Given the description of an element on the screen output the (x, y) to click on. 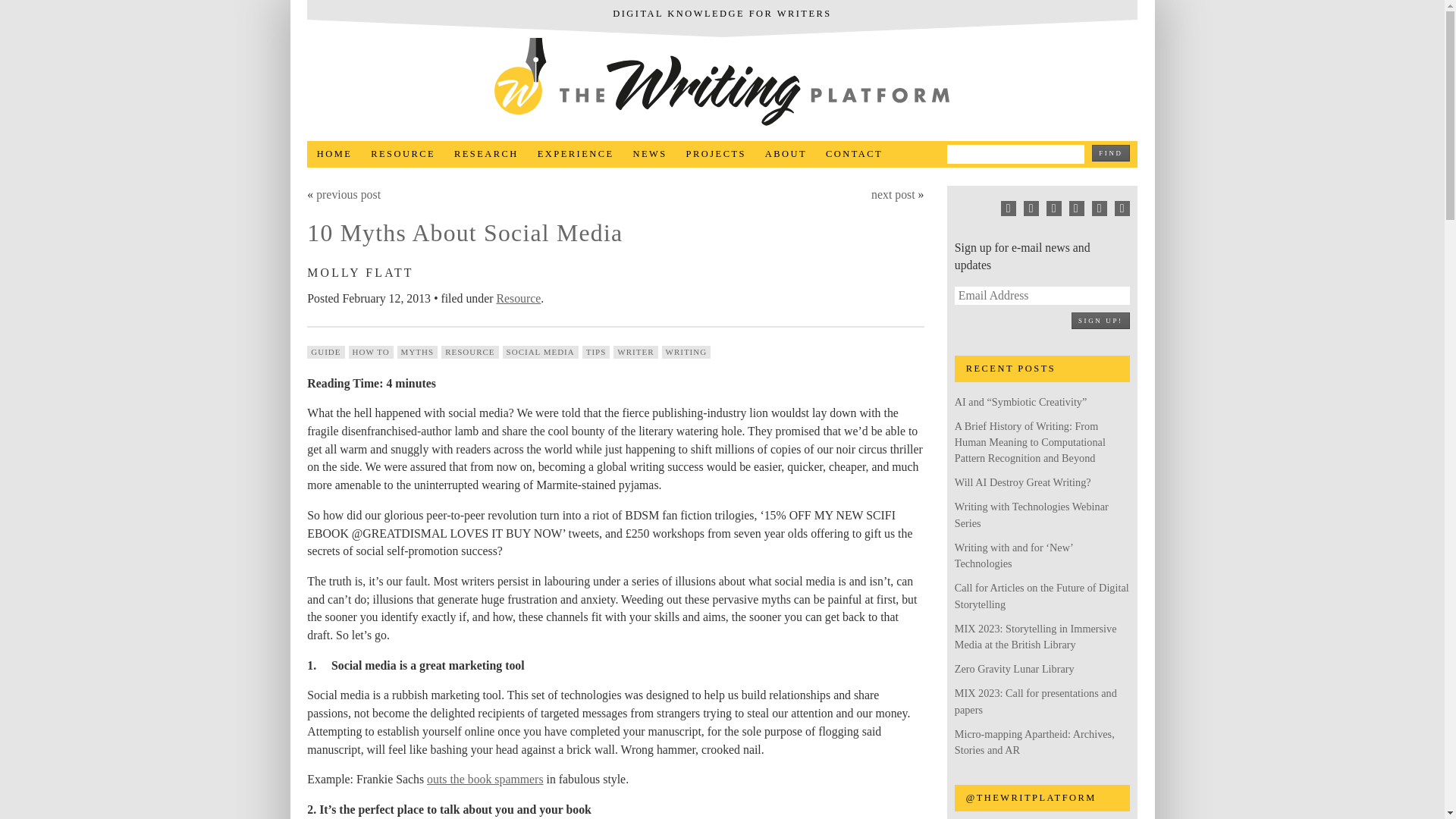
RESOURCE (403, 153)
outs the book spammers (484, 779)
Pinterest (1031, 208)
GUIDE (325, 351)
Twitter (1053, 208)
DIGITAL KNOWLEDGE FOR WRITERS (722, 13)
SOCIAL MEDIA (540, 351)
Resource (518, 297)
MYTHS (417, 351)
RESEARCH (486, 153)
